Given the description of an element on the screen output the (x, y) to click on. 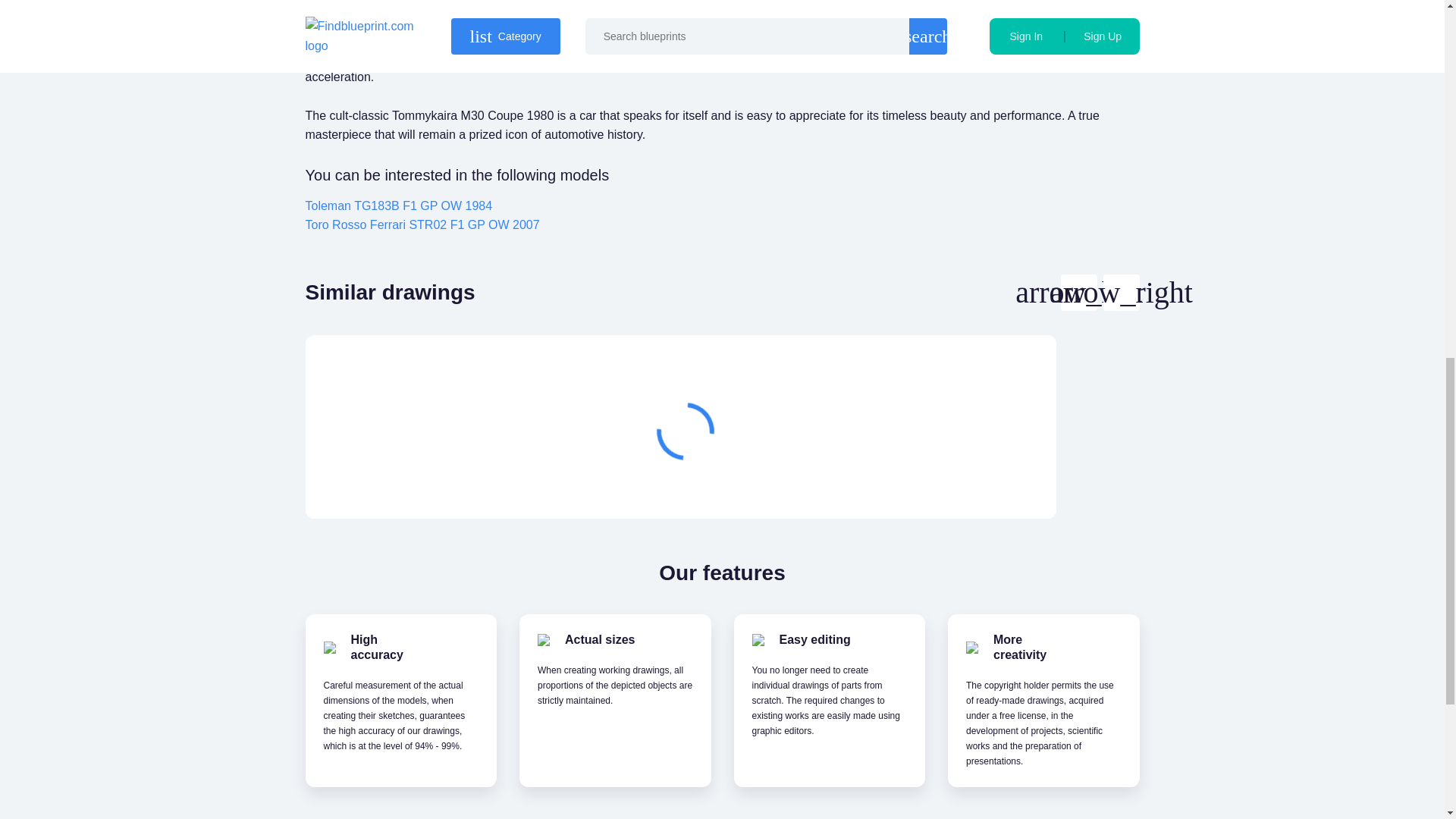
More (962, 482)
Toro Rosso Ferrari STR02 F1 GP OW 2007 (421, 224)
Toleman TG183B F1 GP OW 1984 (398, 205)
